Given the description of an element on the screen output the (x, y) to click on. 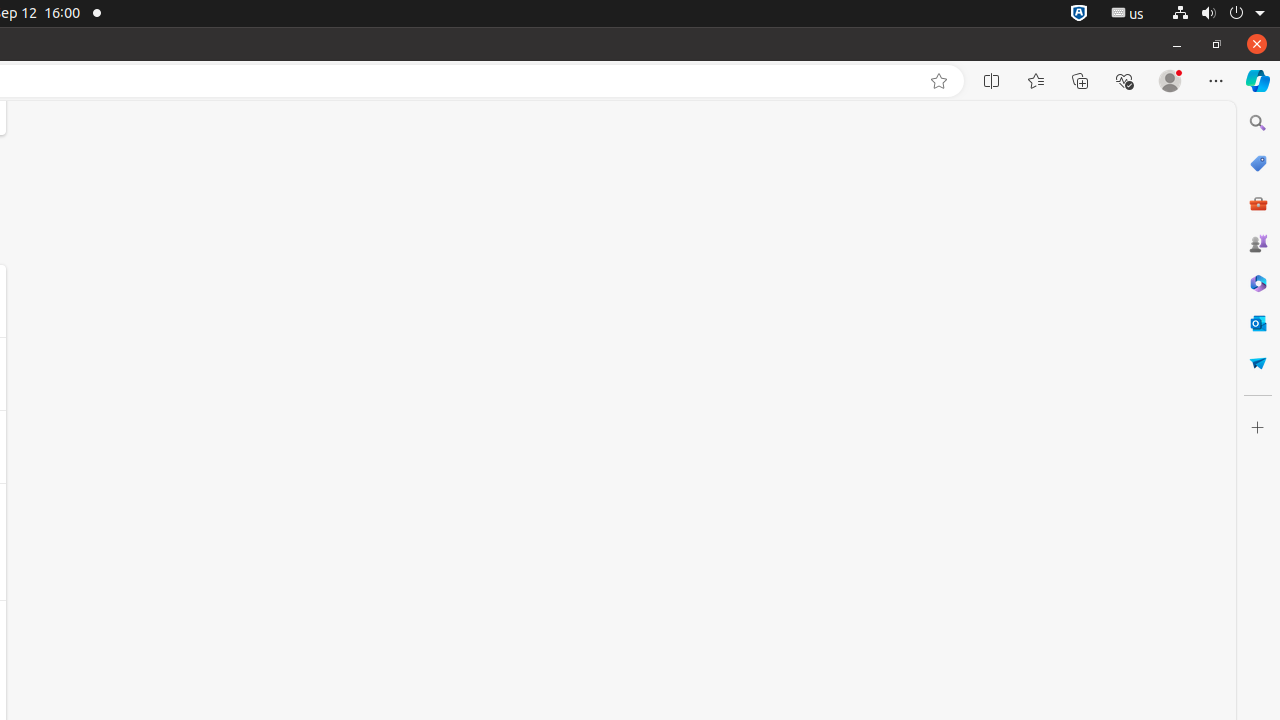
Add this page to favorites (Ctrl+D) Element type: push-button (939, 81)
Collections Element type: push-button (1080, 81)
Profile 1 Profile, Please sign in Element type: push-button (1170, 81)
Search Element type: push-button (1258, 123)
Copilot (Ctrl+Shift+.) Element type: push-button (1258, 81)
